Given the description of an element on the screen output the (x, y) to click on. 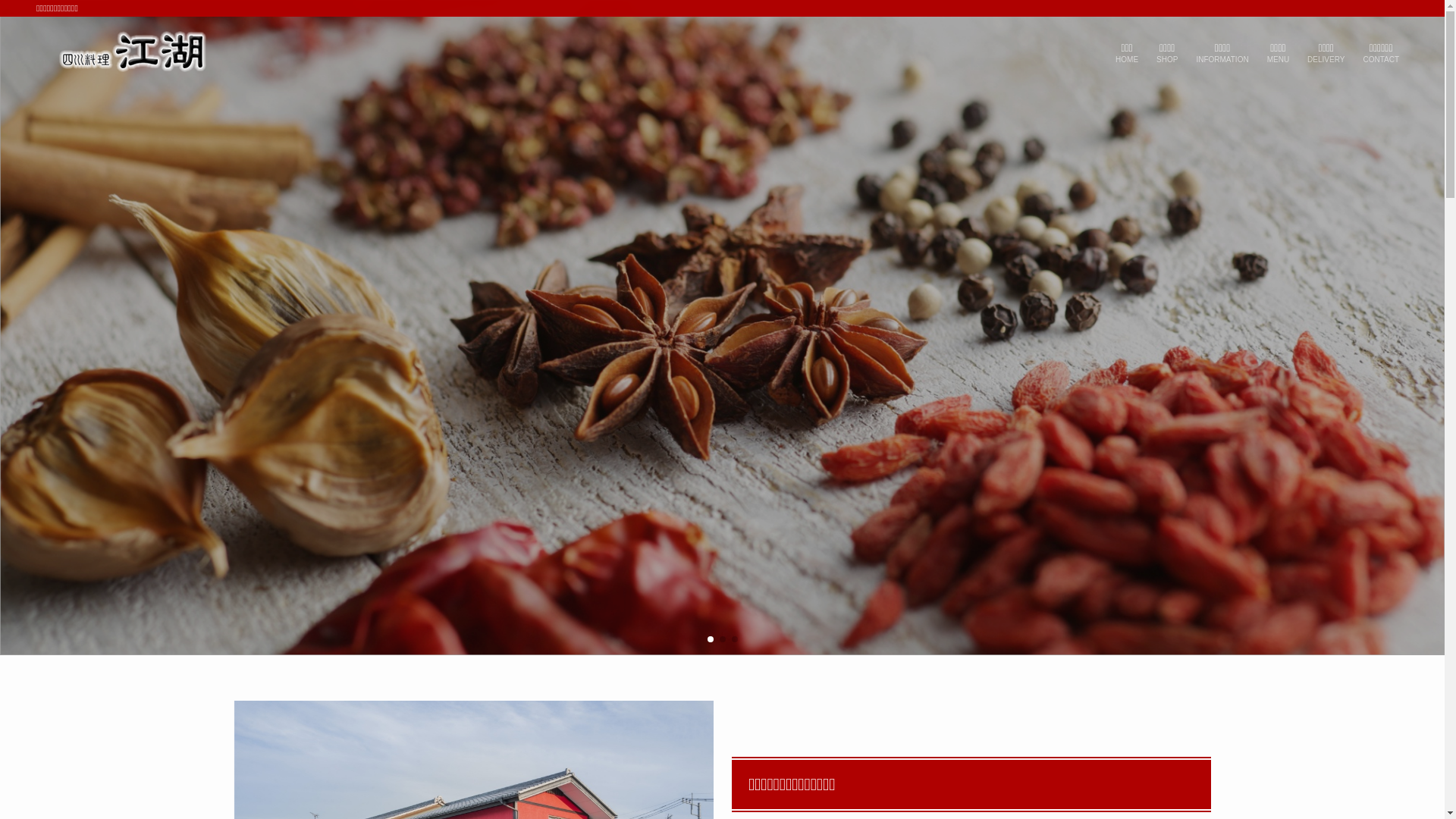
search Element type: text (923, 421)
